Given the description of an element on the screen output the (x, y) to click on. 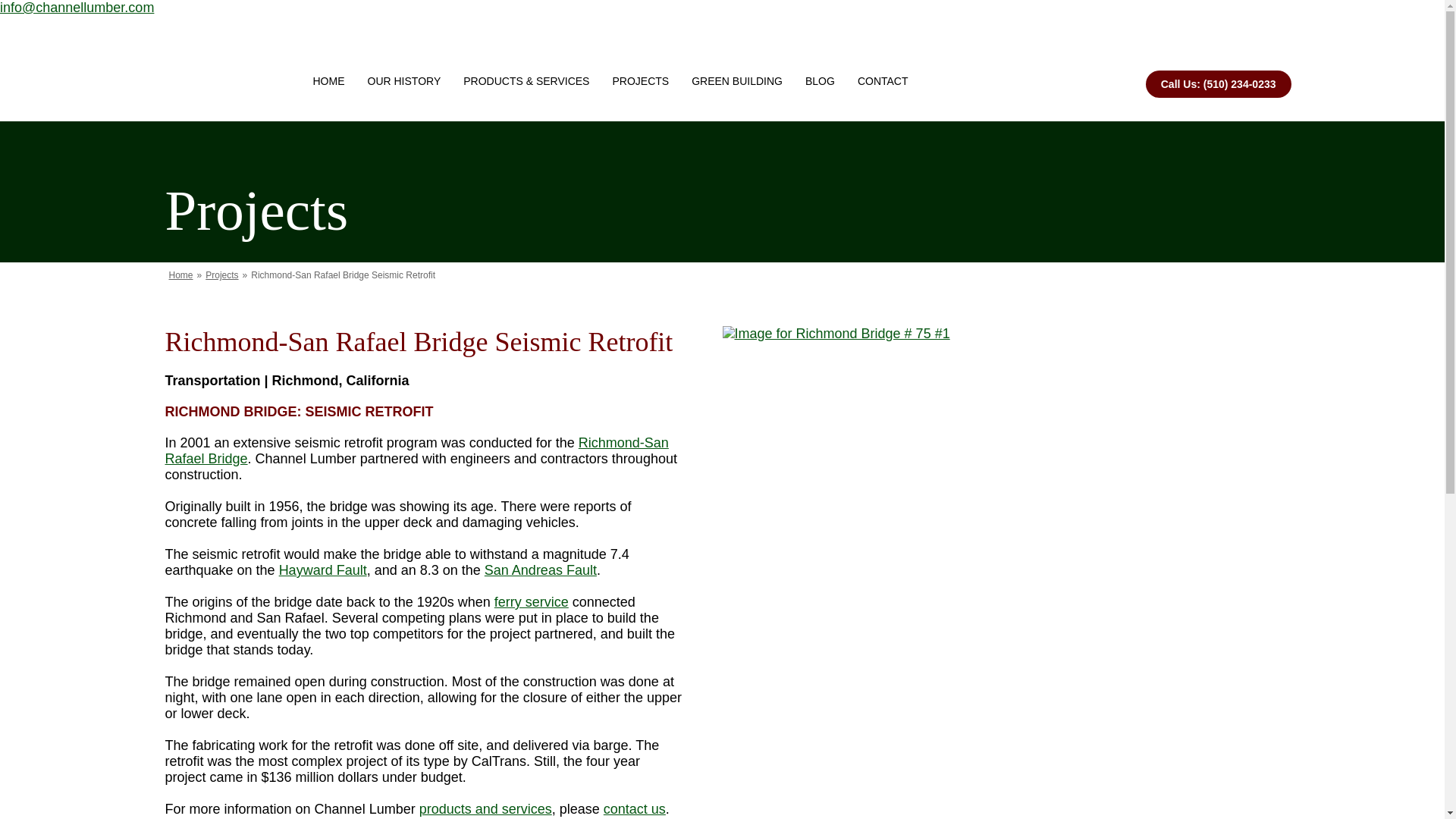
HOME (328, 68)
Channel Lumber (221, 68)
CONTACT (882, 68)
contact us (634, 808)
GREEN BUILDING (736, 68)
San Andreas Fault (540, 570)
PROJECTS (639, 68)
OUR HISTORY (404, 68)
products and services (485, 808)
Projects (221, 275)
Hayward Fault (322, 570)
BLOG (819, 68)
Home (180, 275)
ferry service (532, 601)
Richmond-San Rafael Bridge (416, 450)
